Given the description of an element on the screen output the (x, y) to click on. 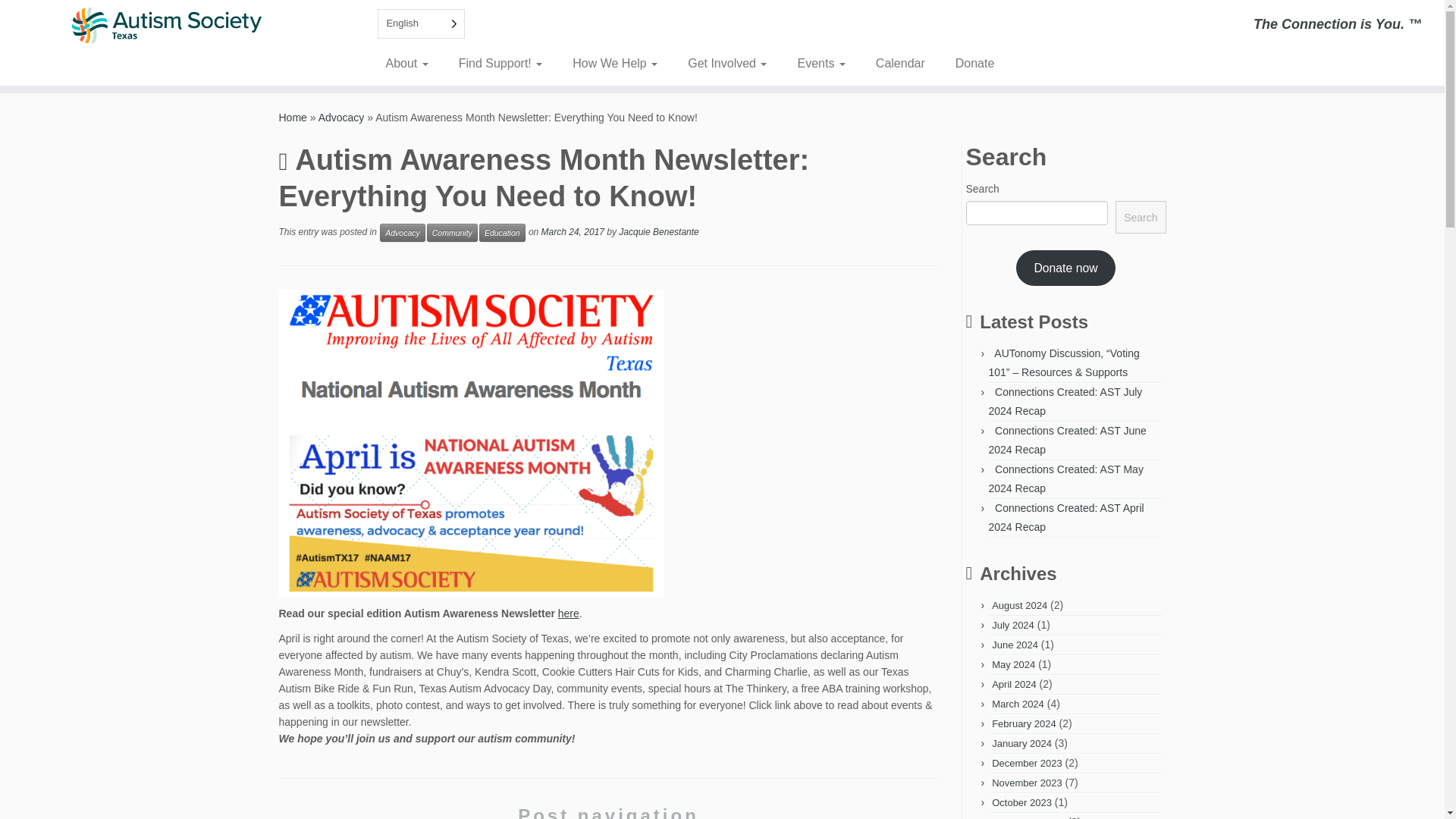
About (411, 62)
View all posts in Education (502, 232)
Get Involved (726, 62)
View all posts in Community (451, 232)
View all posts by Jacquie Benestante (658, 232)
Autism Society of Texas (293, 117)
Find Support! (500, 62)
View all posts in Advocacy (402, 232)
How We Help (614, 62)
Advocacy (341, 117)
